Given the description of an element on the screen output the (x, y) to click on. 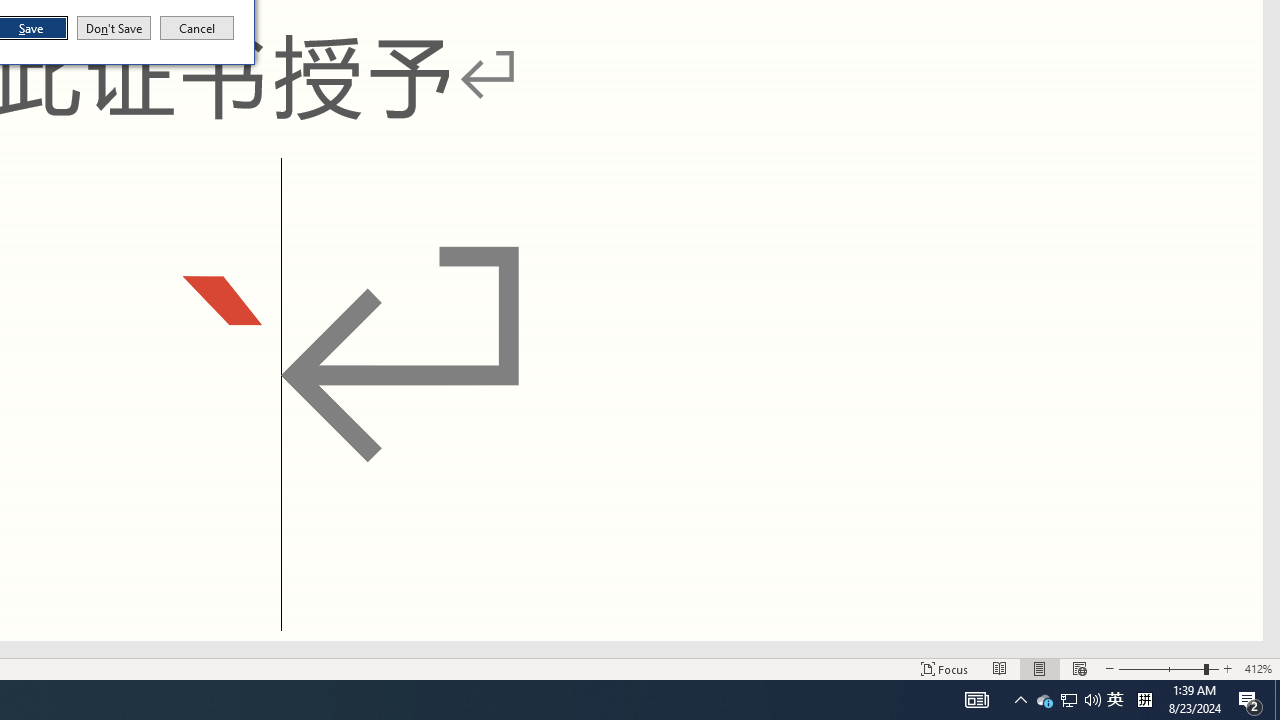
Cancel (197, 27)
